Given the description of an element on the screen output the (x, y) to click on. 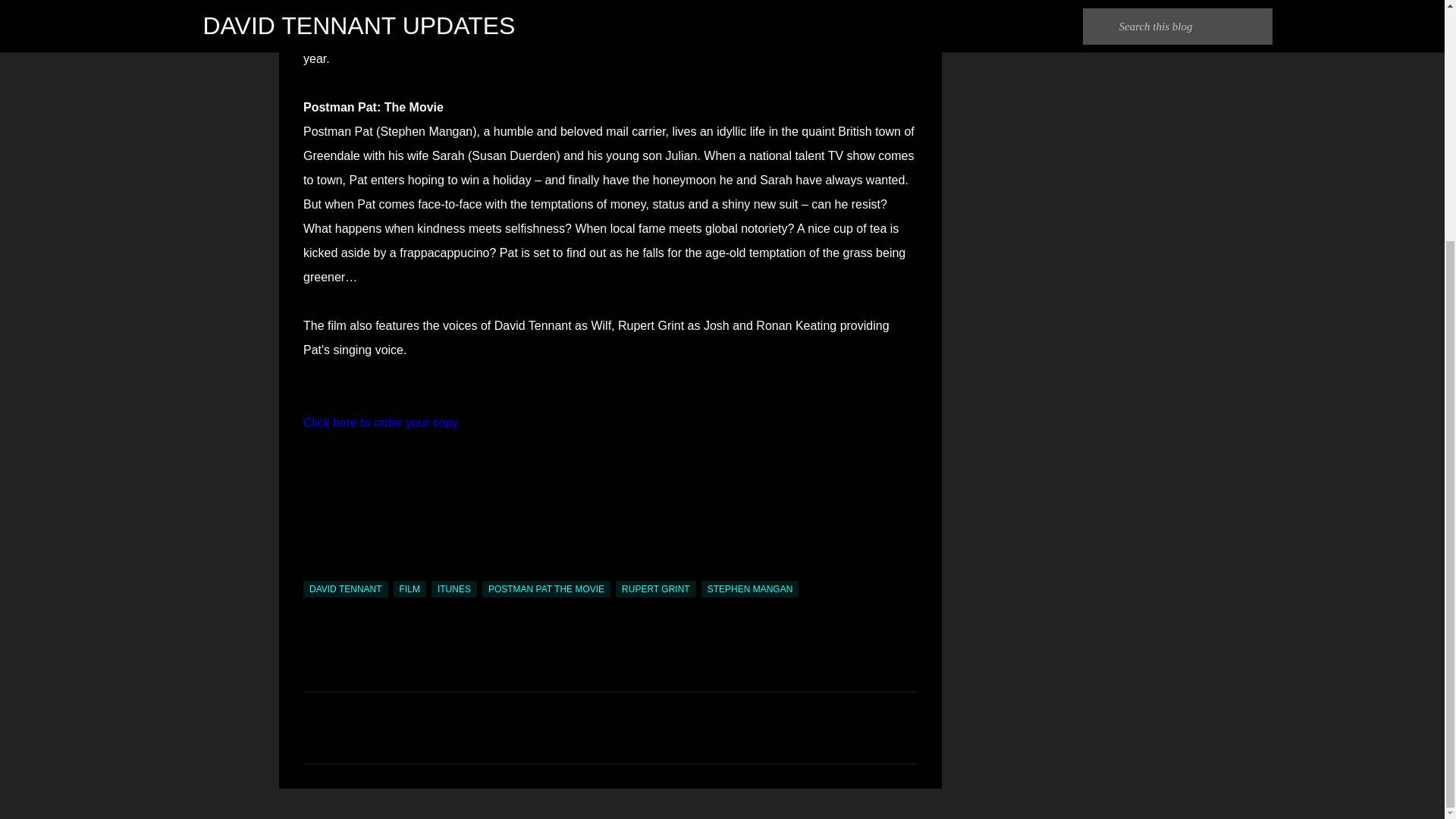
Click here to order your copy (380, 422)
FILM (409, 588)
POSTMAN PAT THE MOVIE (545, 588)
DAVID TENNANT (345, 588)
RUPERT GRINT (655, 588)
Email Post (311, 571)
STEPHEN MANGAN (750, 588)
ITUNES (453, 588)
